Given the description of an element on the screen output the (x, y) to click on. 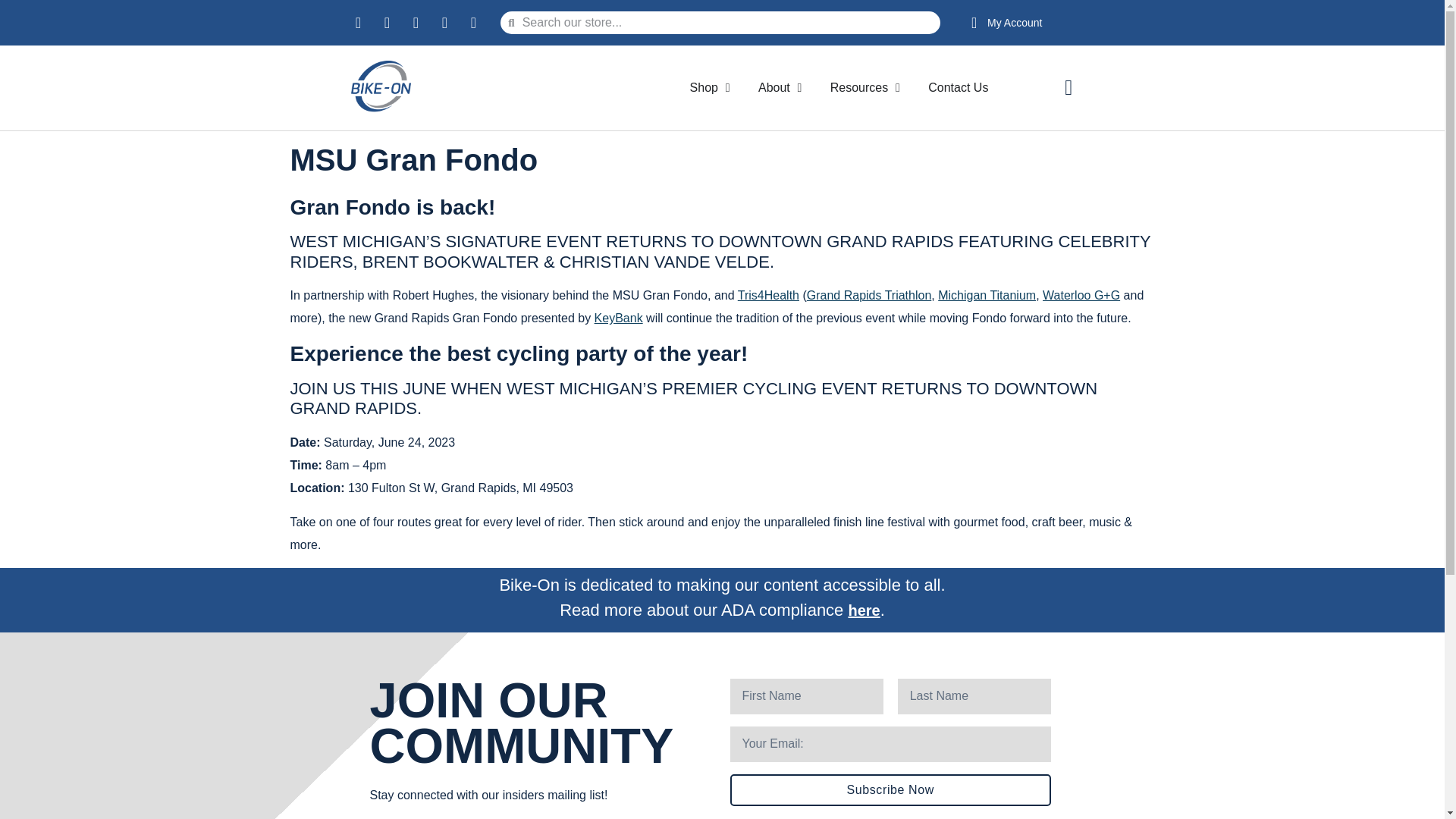
Subscribe Now (889, 789)
here (863, 610)
KeyBank (618, 318)
My Account (1002, 23)
Contact Us (958, 87)
Tris4Health (768, 295)
Michigan Titanium (986, 295)
Grand Rapids Triathlon (868, 295)
